Given the description of an element on the screen output the (x, y) to click on. 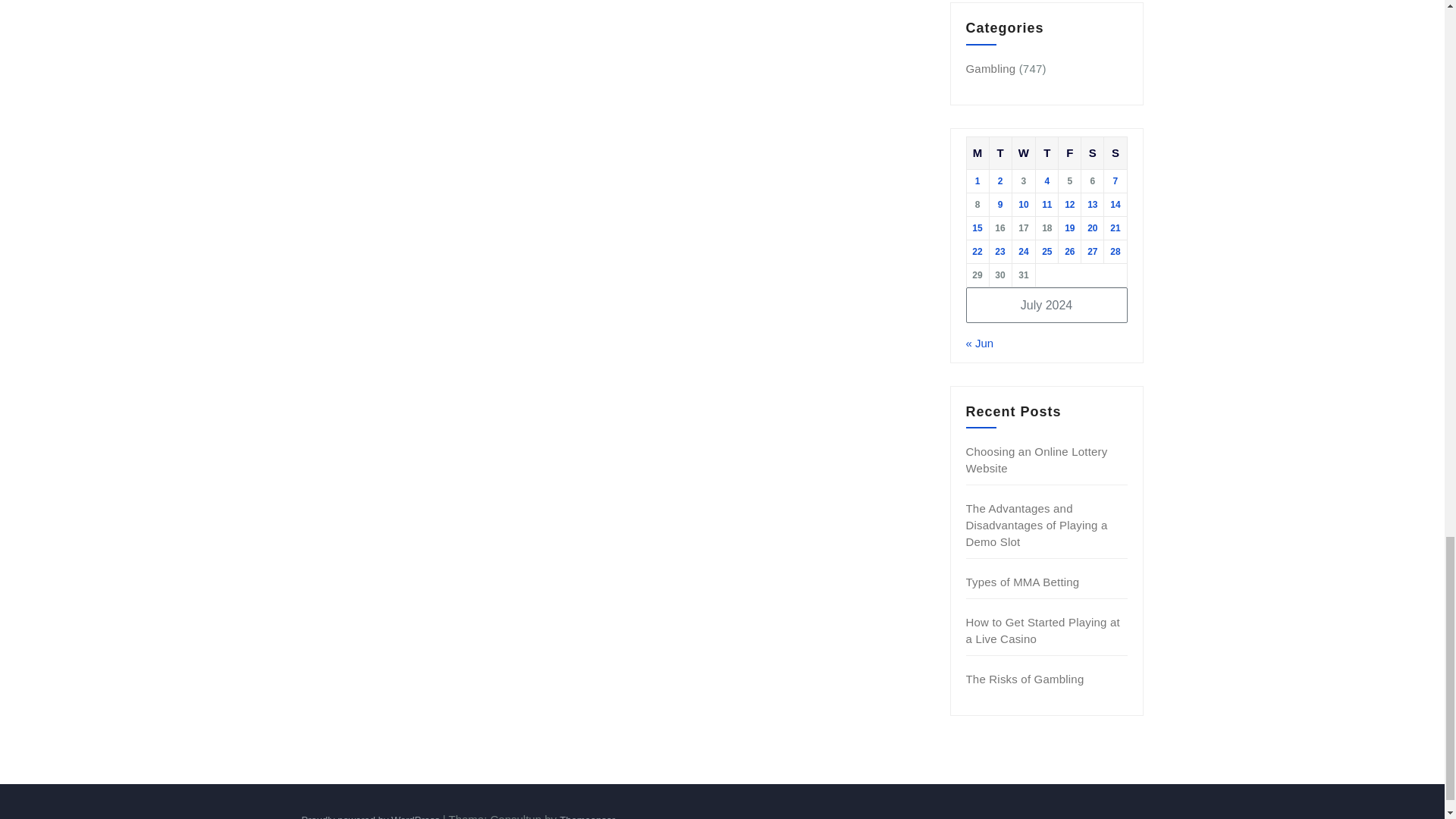
Thursday (1046, 152)
Saturday (1092, 152)
Friday (1069, 152)
1 (977, 181)
Gambling (991, 68)
Wednesday (1023, 152)
4 (1046, 181)
Tuesday (999, 152)
2 (1000, 181)
Monday (977, 152)
Sunday (1114, 152)
